Given the description of an element on the screen output the (x, y) to click on. 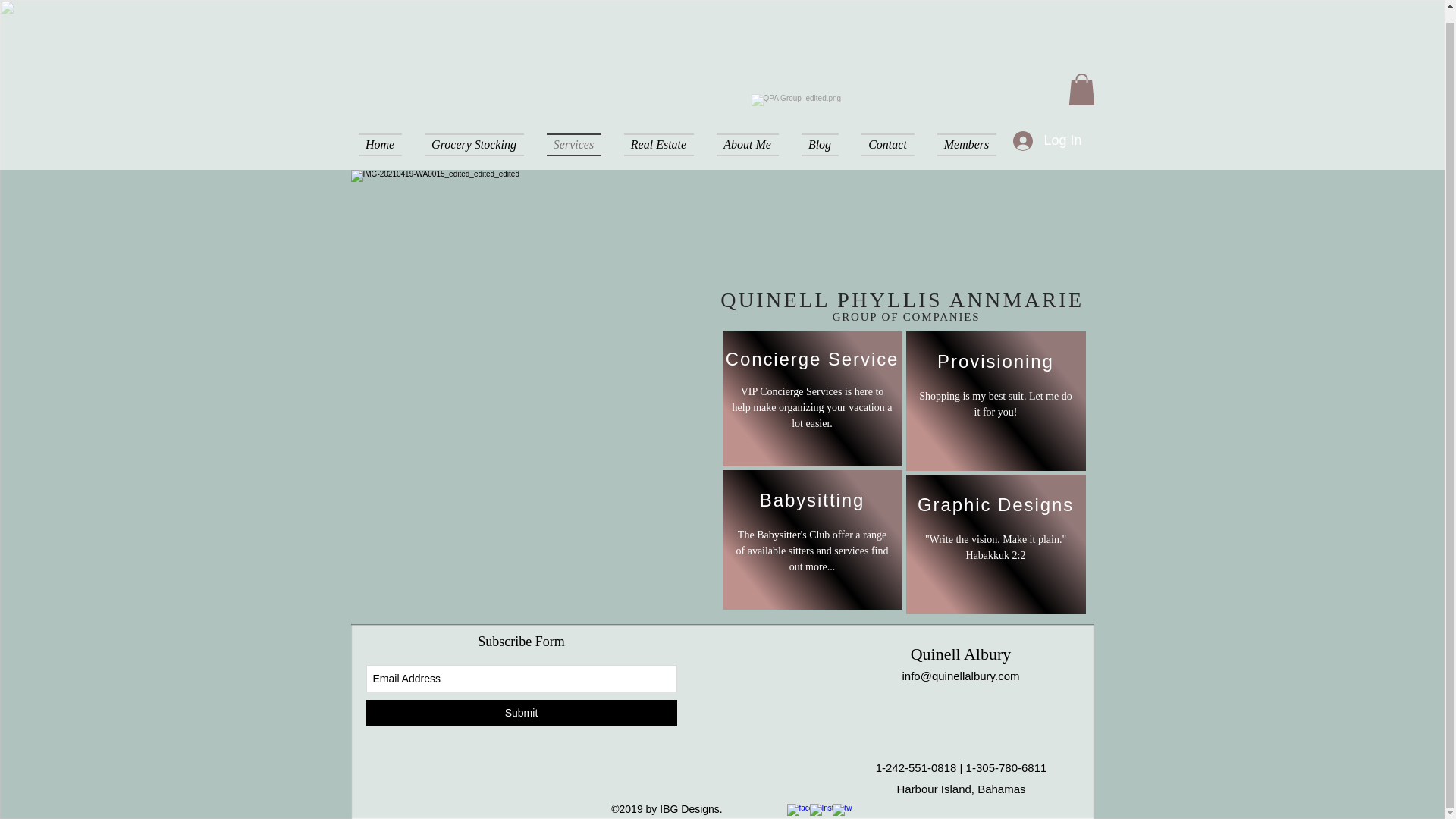
Members (959, 144)
Services (573, 144)
Contact (886, 144)
Grocery Stocking (473, 144)
Submit (521, 713)
Blog (820, 144)
Quinell Albury (961, 653)
Home (385, 144)
Real Estate (658, 144)
About Me (747, 144)
Log In (1047, 141)
